Given the description of an element on the screen output the (x, y) to click on. 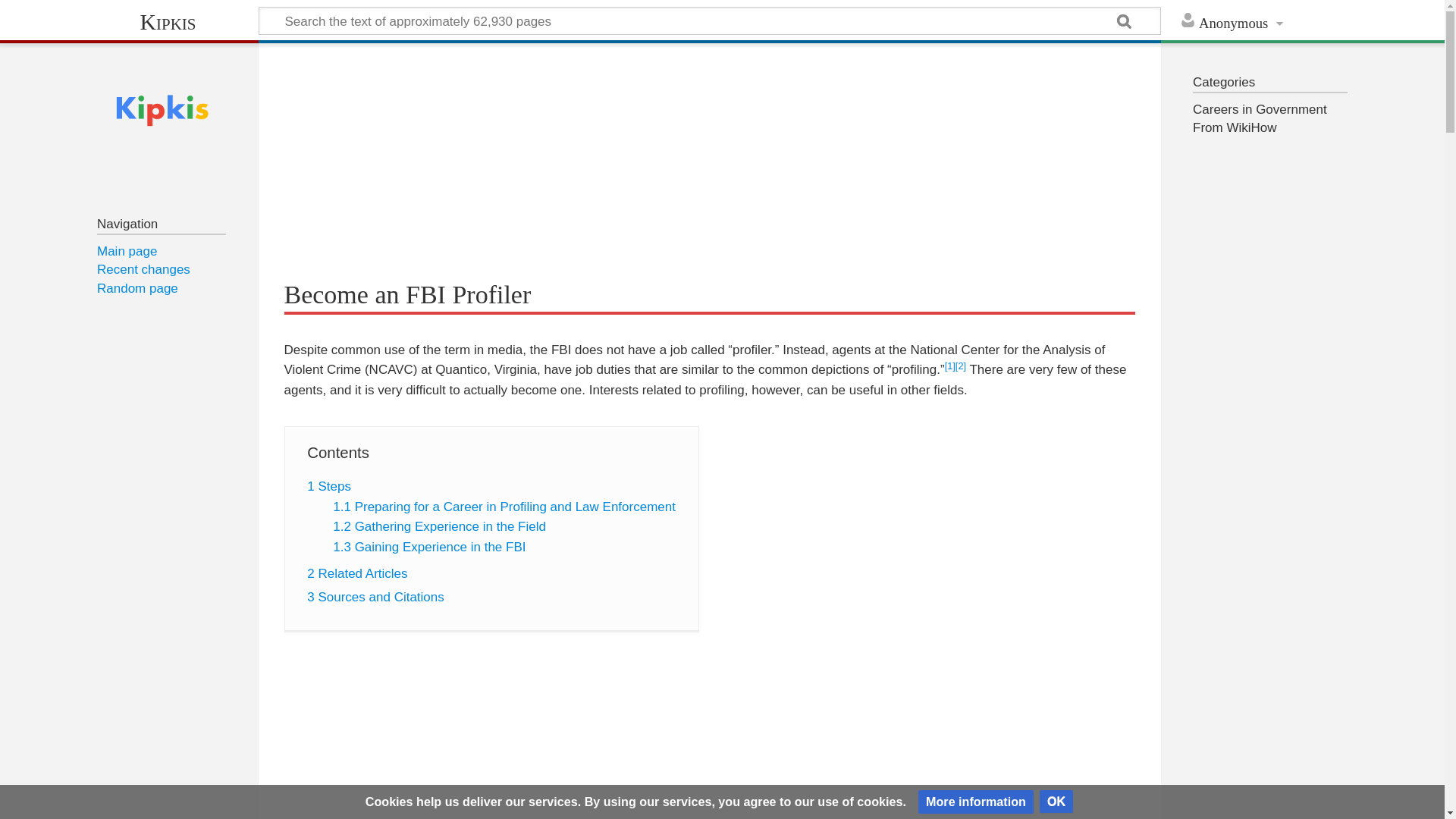
1.2 Gathering Experience in the Field (439, 526)
Random page (137, 288)
Search (1124, 23)
Visit the main page (161, 110)
Search (1124, 23)
3 Sources and Citations (375, 596)
2 Related Articles (357, 573)
Search (1124, 23)
OK (1056, 801)
Go (1124, 23)
Recent changes (143, 269)
Go (1124, 23)
1.3 Gaining Experience in the FBI (429, 546)
Advertisement (709, 744)
Search the pages for this text (1124, 23)
